Given the description of an element on the screen output the (x, y) to click on. 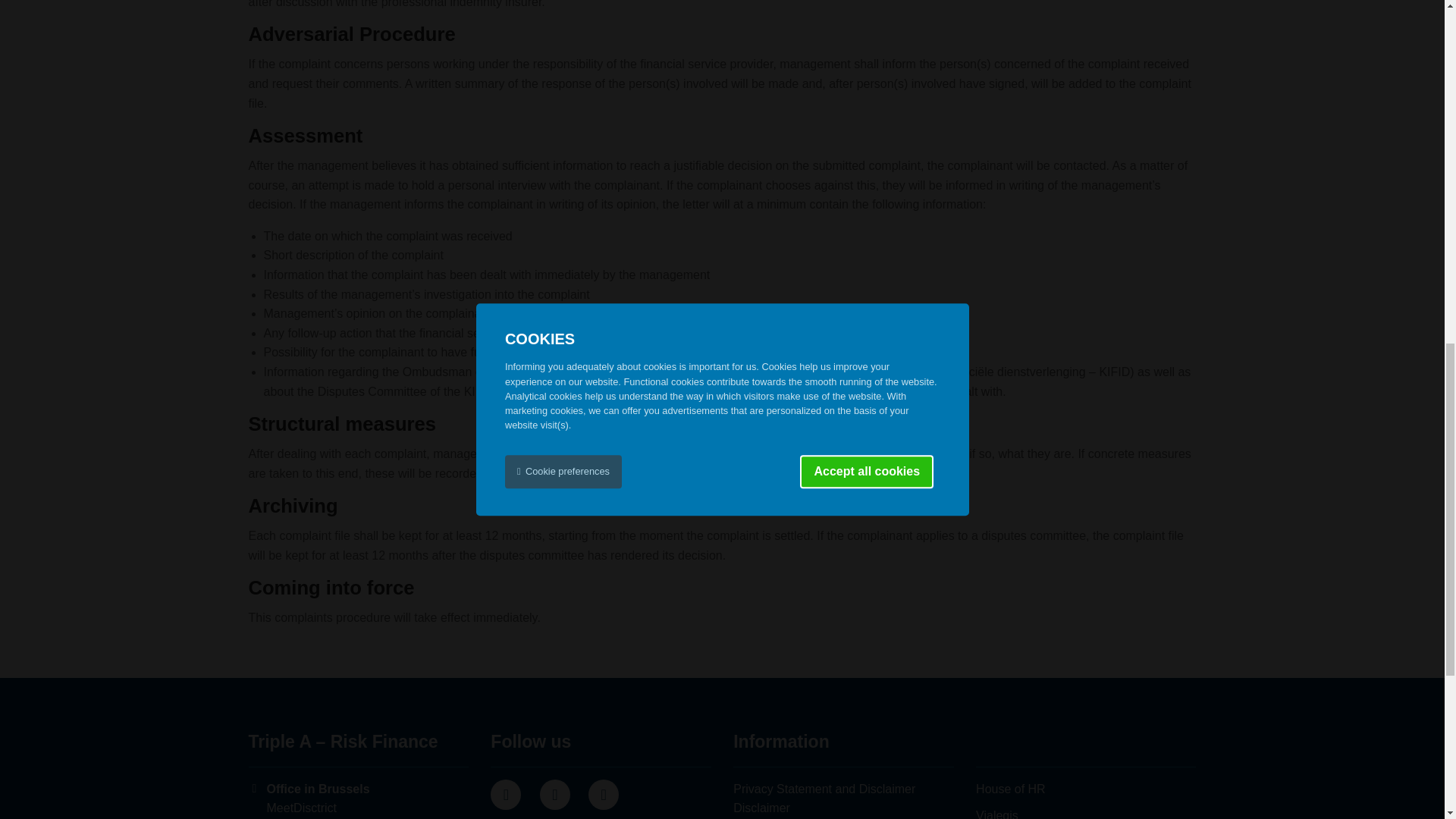
Disclaimer (761, 807)
Vialegis (996, 814)
Profource (1010, 788)
Vialegis (996, 814)
House of HR (1010, 788)
Privacy Statement and Disclaimer (824, 788)
